Given the description of an element on the screen output the (x, y) to click on. 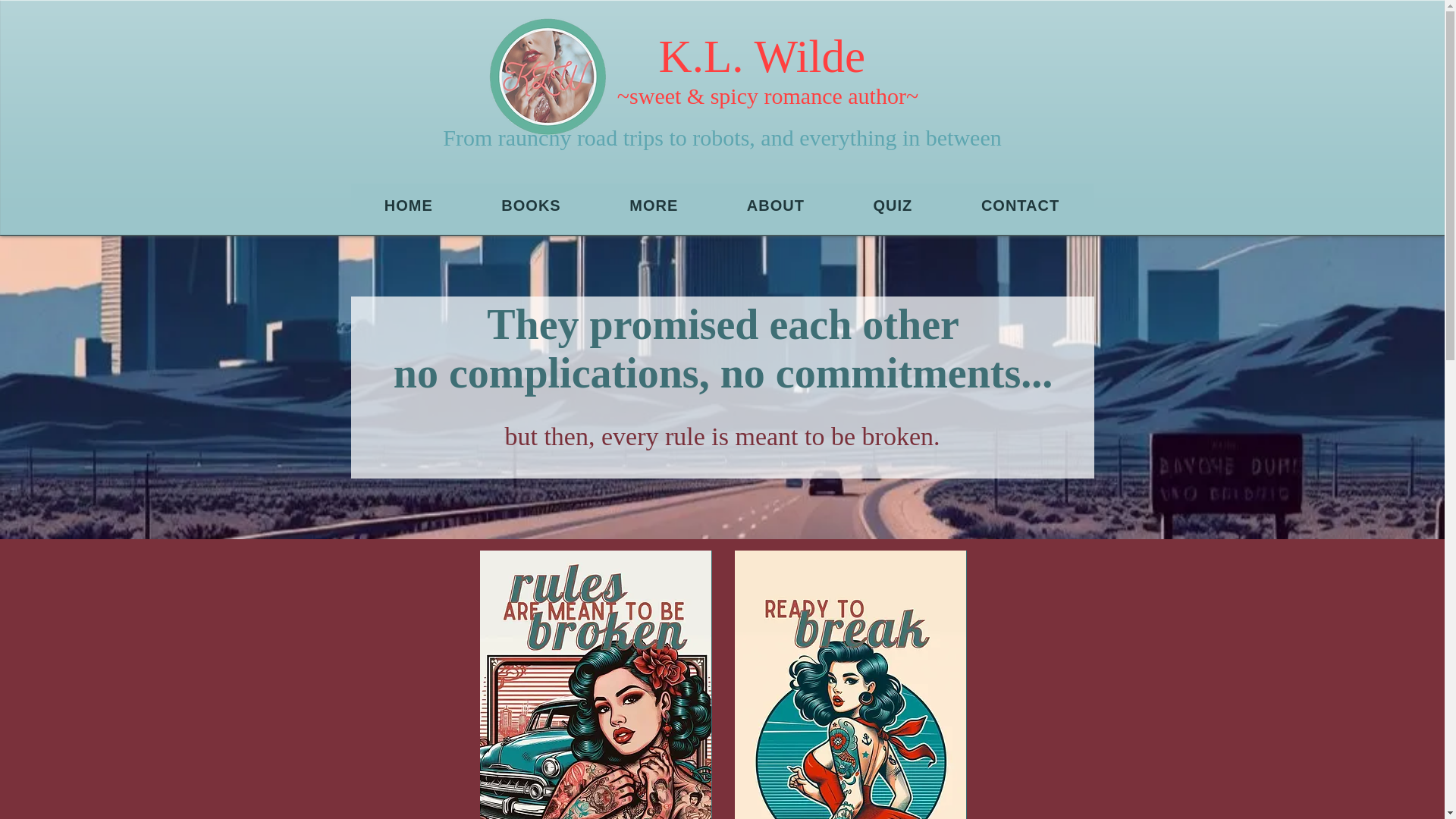
CONTACT (1020, 205)
HOME (721, 205)
ABOUT (408, 205)
picy (775, 205)
K.L. Wilde  (738, 95)
QUIZ (768, 68)
